Given the description of an element on the screen output the (x, y) to click on. 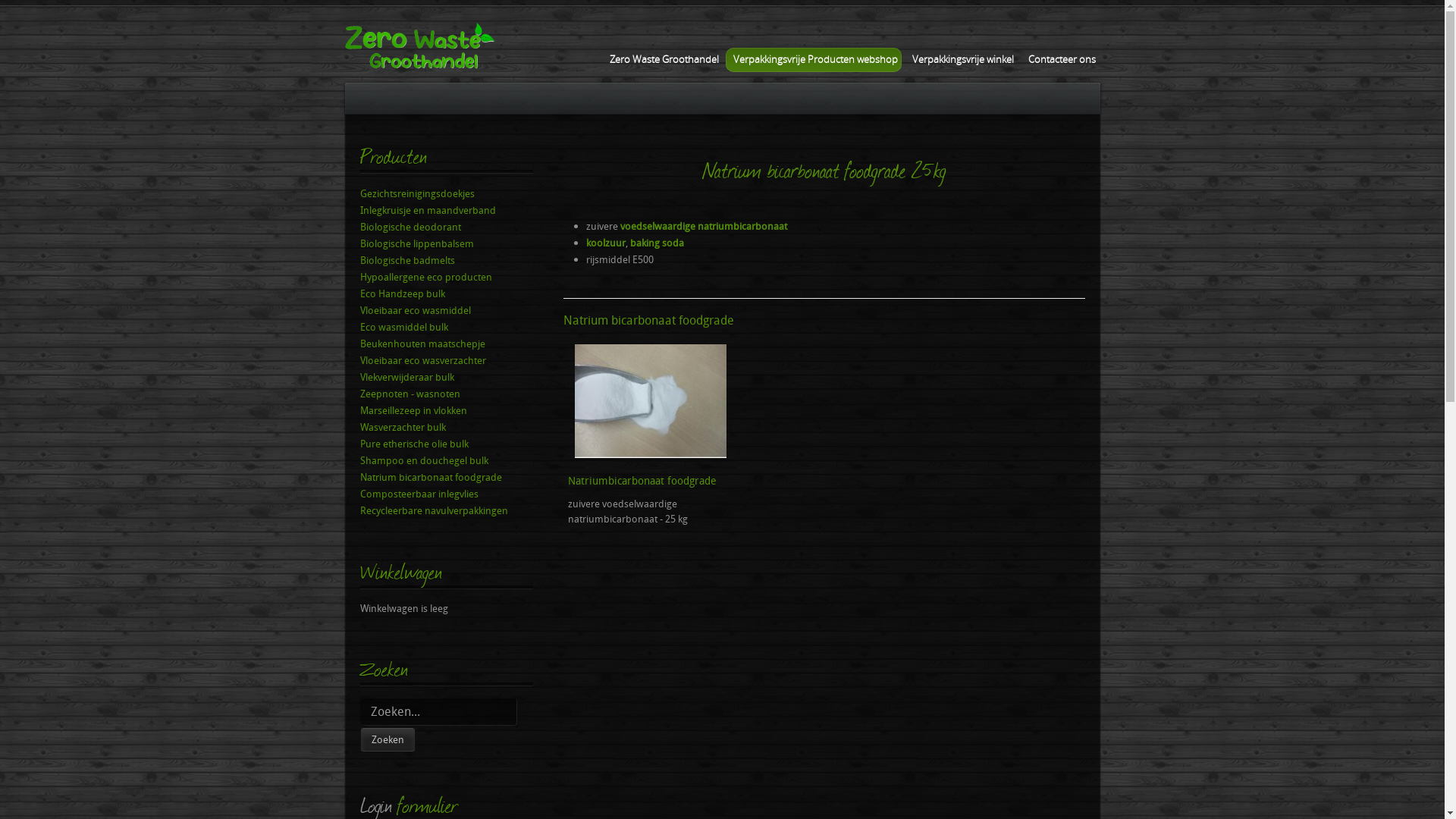
Wasverzachter bulk Element type: text (446, 426)
Beukenhouten maatschepje Element type: text (446, 343)
Natrium bicarbonaat foodgrade Element type: text (446, 476)
Vloeibaar eco wasverzachter Element type: text (446, 359)
Biologische deodorant Element type: text (446, 226)
Zeepnoten - wasnoten Element type: text (446, 393)
Verpakkingsvrije winkel Element type: text (960, 59)
Vloeibaar eco wasmiddel Element type: text (446, 309)
Marseillezeep in vlokken Element type: text (446, 409)
Zoeken Element type: text (386, 739)
Eco wasmiddel bulk Element type: text (446, 326)
Contacteer ons Element type: text (1059, 59)
Composteerbaar inlegvlies Element type: text (446, 493)
Pure etherische olie bulk Element type: text (446, 443)
Inlegkruisje en maandverband Element type: text (446, 209)
Eco Handzeep bulk Element type: text (446, 293)
Vlekverwijderaar bulk Element type: text (446, 376)
Biologische lippenbalsem Element type: text (446, 243)
Hypoallergene eco producten Element type: text (446, 276)
Natriumbicarbonaat foodgrade Element type: text (641, 480)
Zero Waste Groothandel Element type: text (661, 59)
Gezichtsreinigingsdoekjes Element type: text (446, 193)
Biologische badmelts Element type: text (446, 259)
Verpakkingsvrije Producten webshop Element type: text (813, 59)
Natriumbicarbonaat foodgrade  Element type: hover (650, 454)
Recycleerbare navulverpakkingen Element type: text (446, 510)
Shampoo en douchegel bulk Element type: text (446, 459)
